Given the description of an element on the screen output the (x, y) to click on. 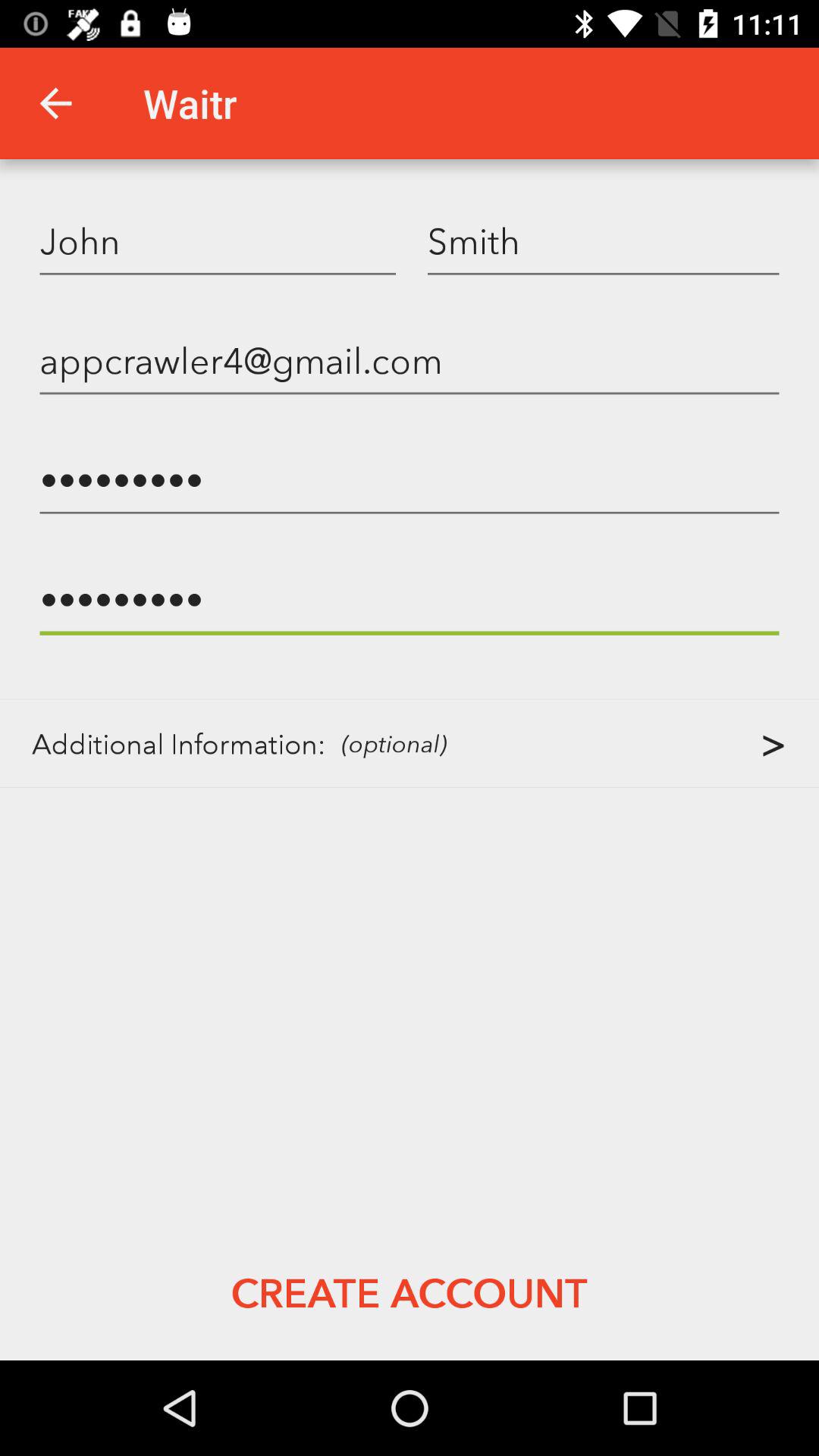
open item above appcrawler4@gmail.com item (603, 240)
